Given the description of an element on the screen output the (x, y) to click on. 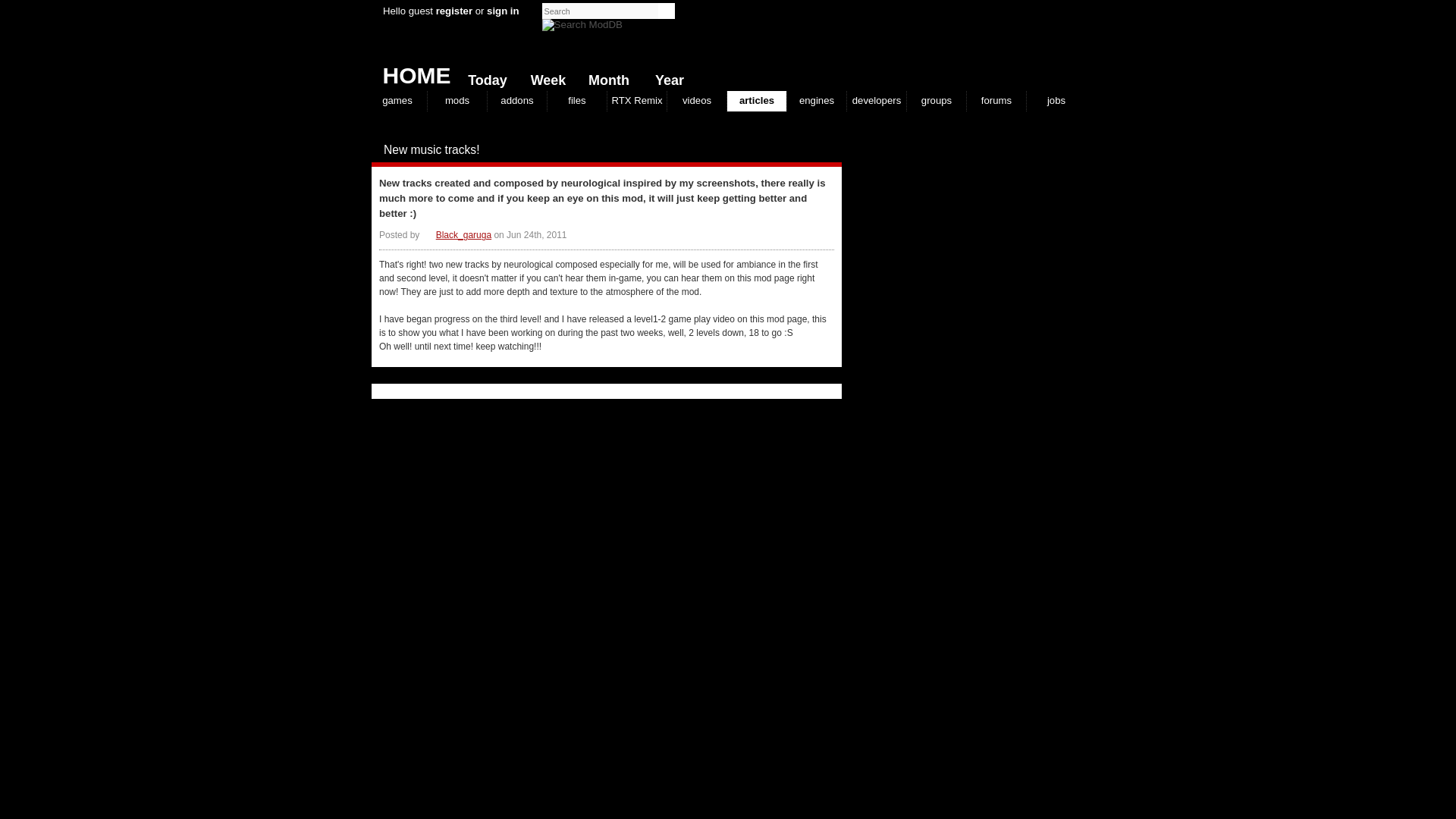
Search ModDB (582, 24)
New this month (605, 76)
files (577, 100)
sign in (502, 10)
New this week (545, 76)
New this year (666, 76)
Month (605, 76)
Week (545, 76)
mods (457, 100)
Post news (803, 150)
